Given the description of an element on the screen output the (x, y) to click on. 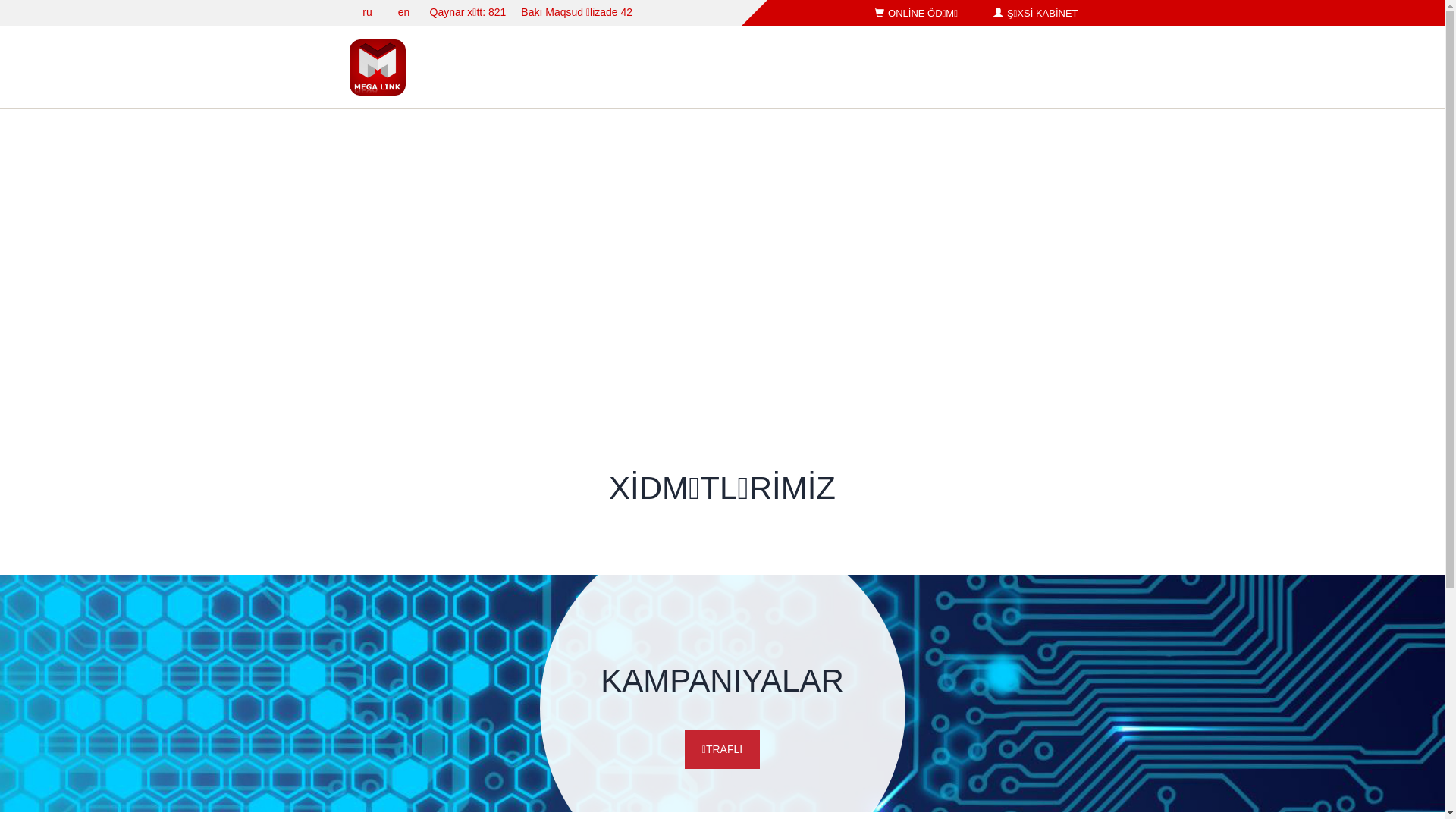
ru Element type: text (366, 11)
en Element type: text (403, 11)
